Given the description of an element on the screen output the (x, y) to click on. 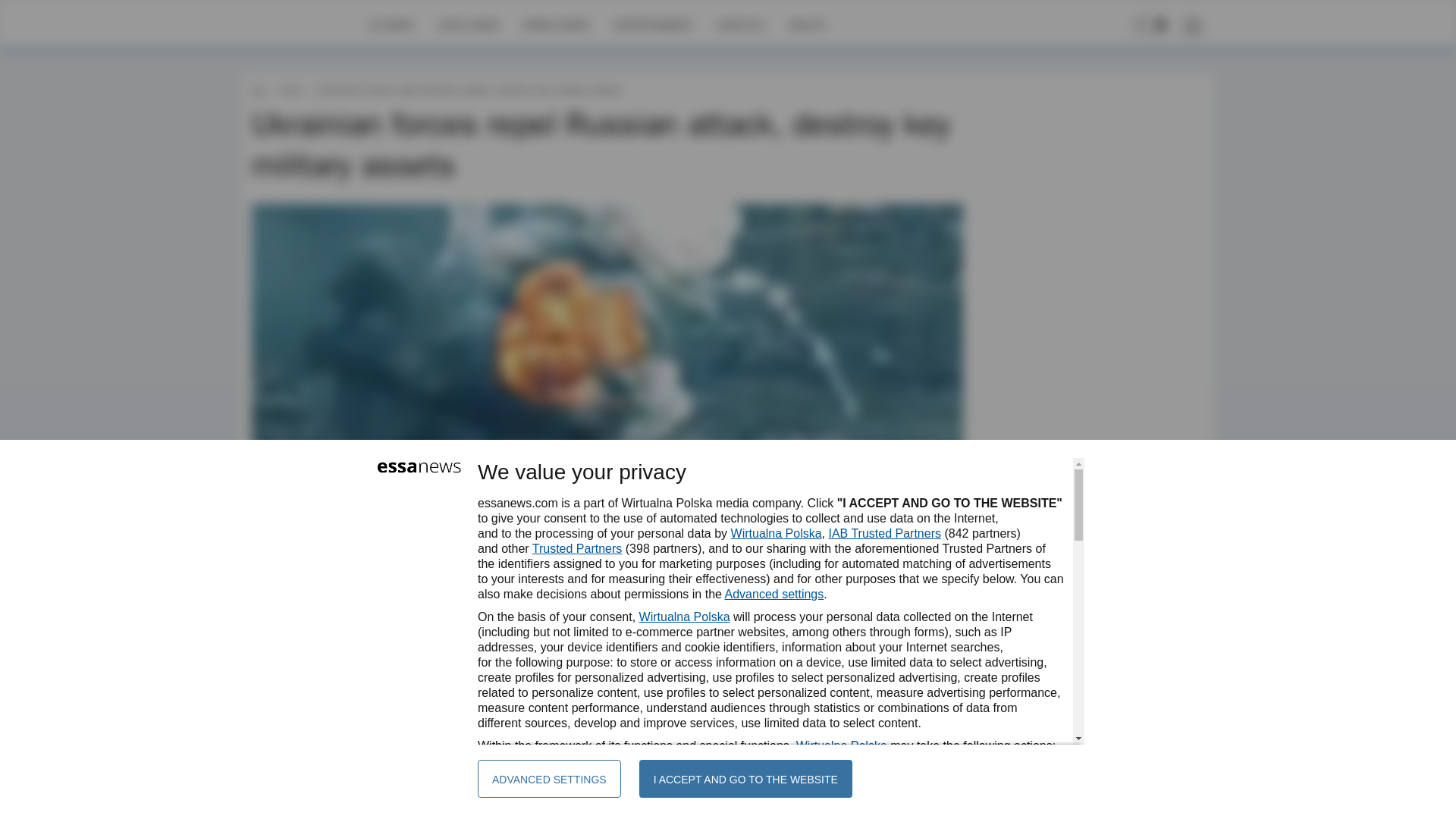
US NEWS (390, 24)
Tech (290, 89)
LOCAL NEWS (468, 24)
HEALTH (807, 24)
WORLD NEWS (555, 24)
SHARE (936, 649)
Homepage (305, 24)
MT (296, 641)
MT (296, 641)
ENTERTAINMENT (652, 24)
LIFESTYLE (740, 24)
Tech (290, 89)
essanews.com (257, 89)
